Given the description of an element on the screen output the (x, y) to click on. 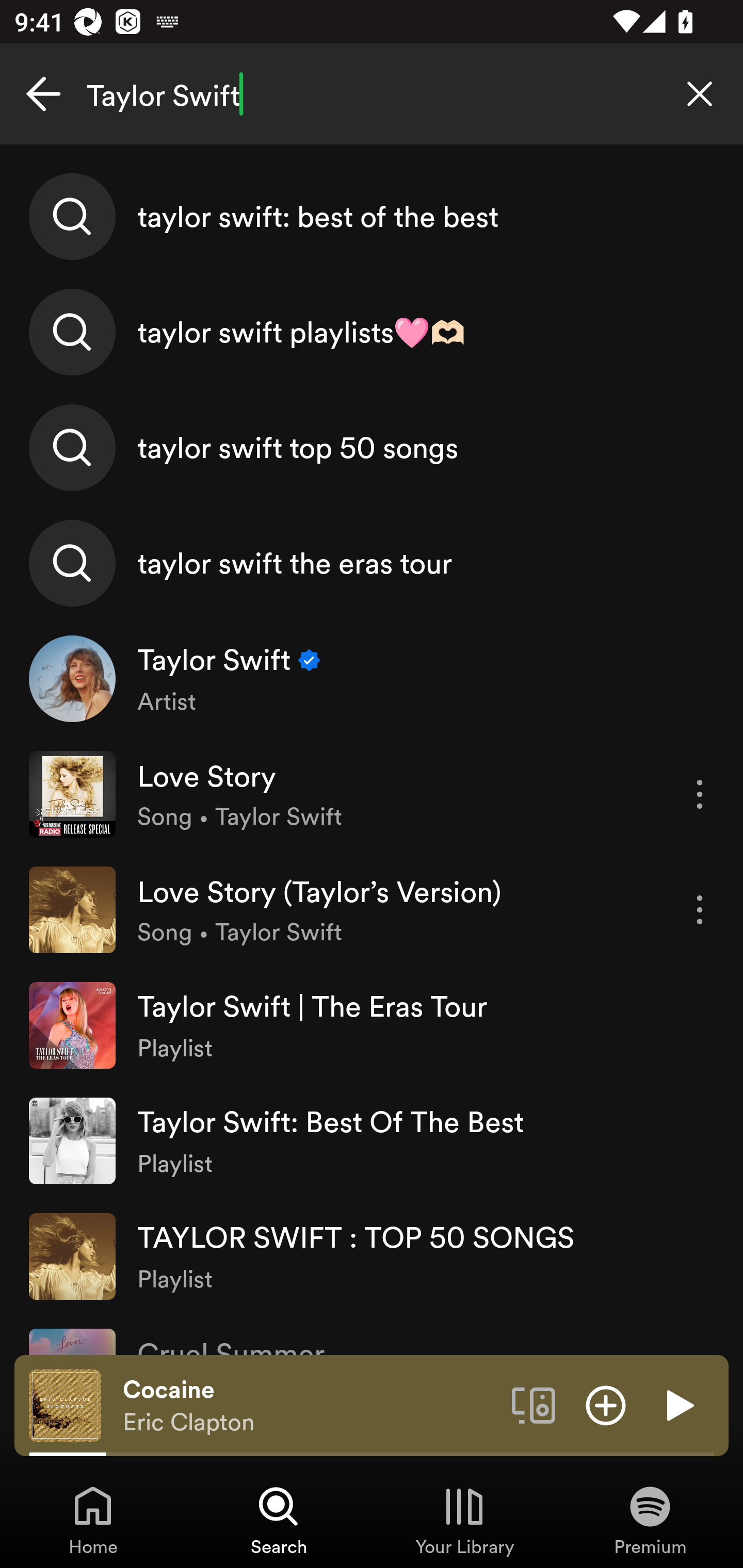
Taylor Swift (371, 93)
Cancel (43, 93)
Clear search query (699, 93)
taylor swift: best of the best (371, 216)
taylor swift playlists🩷🫶🏻 (371, 332)
taylor swift top 50 songs (371, 447)
taylor swift the eras tour (371, 562)
Taylor Swift Verified Artist (371, 678)
More options for song Love Story (699, 794)
Taylor Swift | The Eras Tour Playlist (371, 1025)
Taylor Swift: Best Of The Best Playlist (371, 1140)
TAYLOR SWIFT : TOP 50 SONGS Playlist (371, 1255)
Cocaine Eric Clapton (309, 1405)
The cover art of the currently playing track (64, 1404)
Connect to a device. Opens the devices menu (533, 1404)
Add item (605, 1404)
Play (677, 1404)
